Given the description of an element on the screen output the (x, y) to click on. 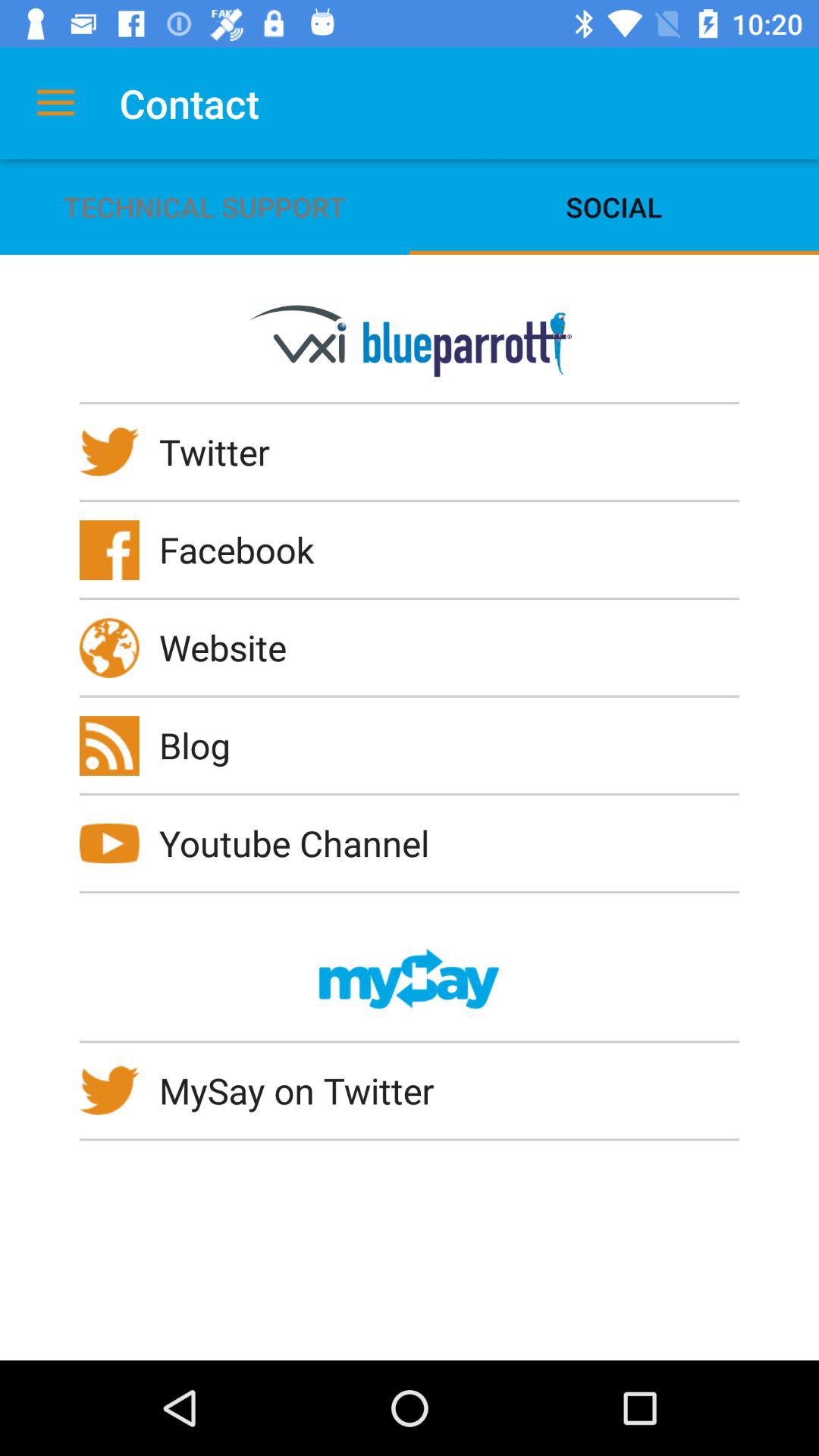
jump to the mysay on twitter (306, 1090)
